Given the description of an element on the screen output the (x, y) to click on. 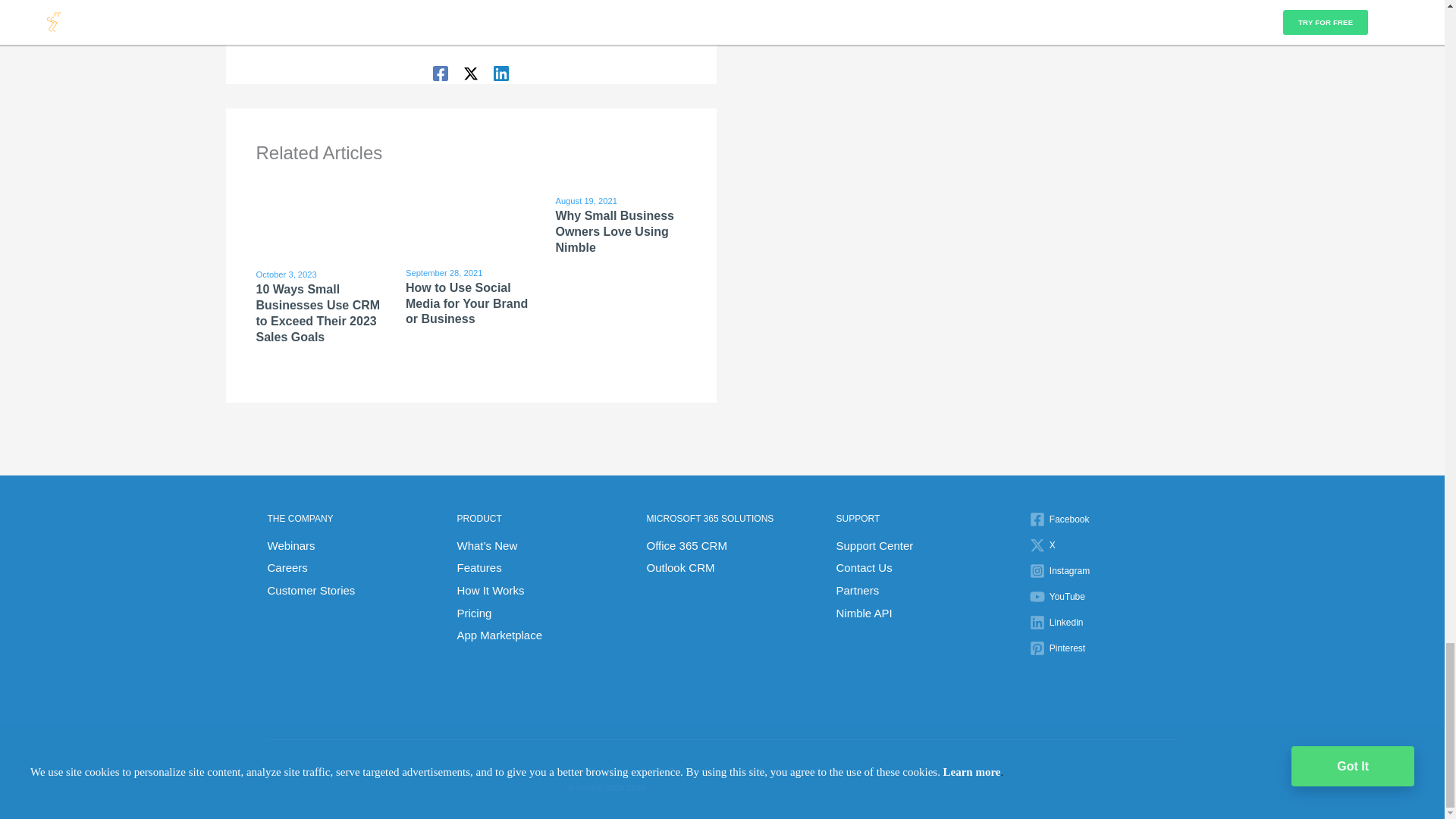
Nimble Editorial Team (471, 33)
How to Use Social Media for Your Brand or Business (466, 303)
Why Small Business Owners Love Using Nimble (614, 231)
